Given the description of an element on the screen output the (x, y) to click on. 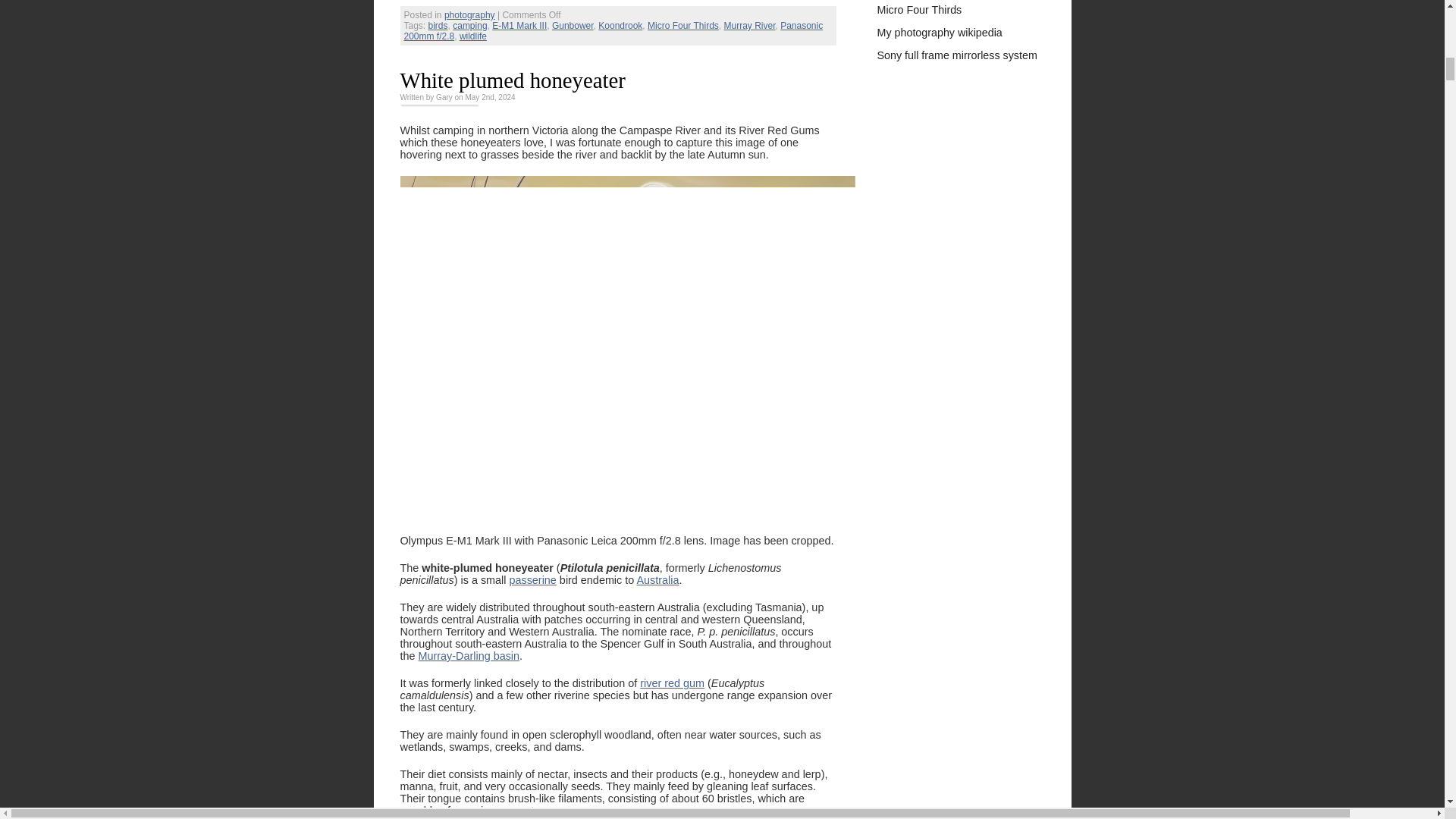
wildlife (473, 36)
Murray River (748, 25)
camping (469, 25)
Murray-Darling basin (469, 655)
photography (469, 14)
Australia (657, 580)
river red gum (672, 683)
White plumed honeyeater (513, 79)
passerine (532, 580)
Koondrook (620, 25)
Permanent Link to White plumed honeyeater (513, 79)
birds (438, 25)
Gunbower (572, 25)
E-M1 Mark III (519, 25)
Micro Four Thirds (683, 25)
